Given the description of an element on the screen output the (x, y) to click on. 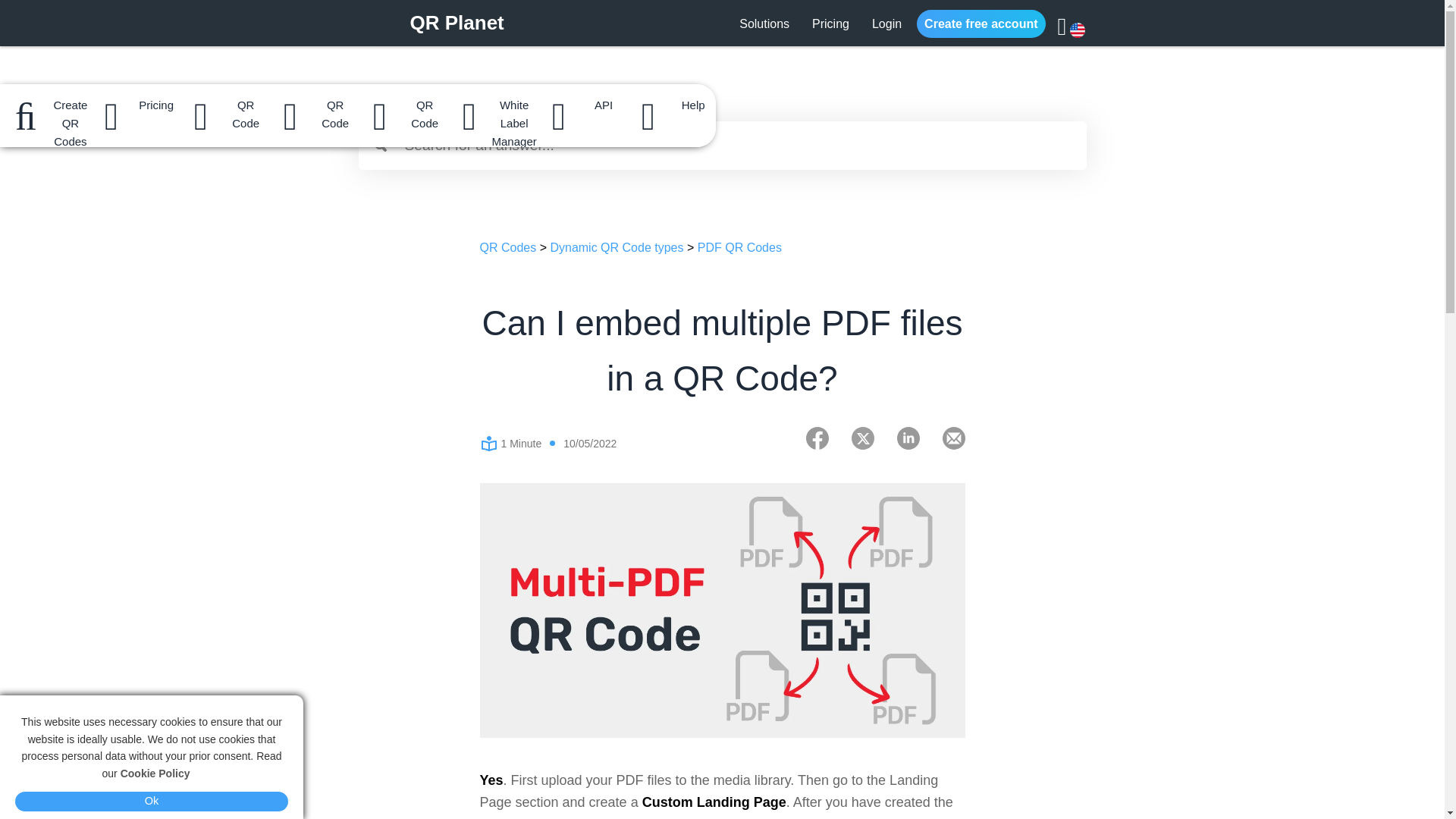
Ok (151, 801)
Login (886, 23)
QR Code Solutions (223, 105)
Solutions (764, 23)
Help (671, 105)
Cookie Policy (155, 773)
Call-2-Action-Buttons (661, 817)
White Label Manager (491, 105)
API (581, 105)
Create free account (981, 23)
PDF QR Codes (739, 246)
Pricing (831, 23)
Create QR Codes (44, 105)
QR Code Management (312, 105)
QR Codes (507, 246)
